Given the description of an element on the screen output the (x, y) to click on. 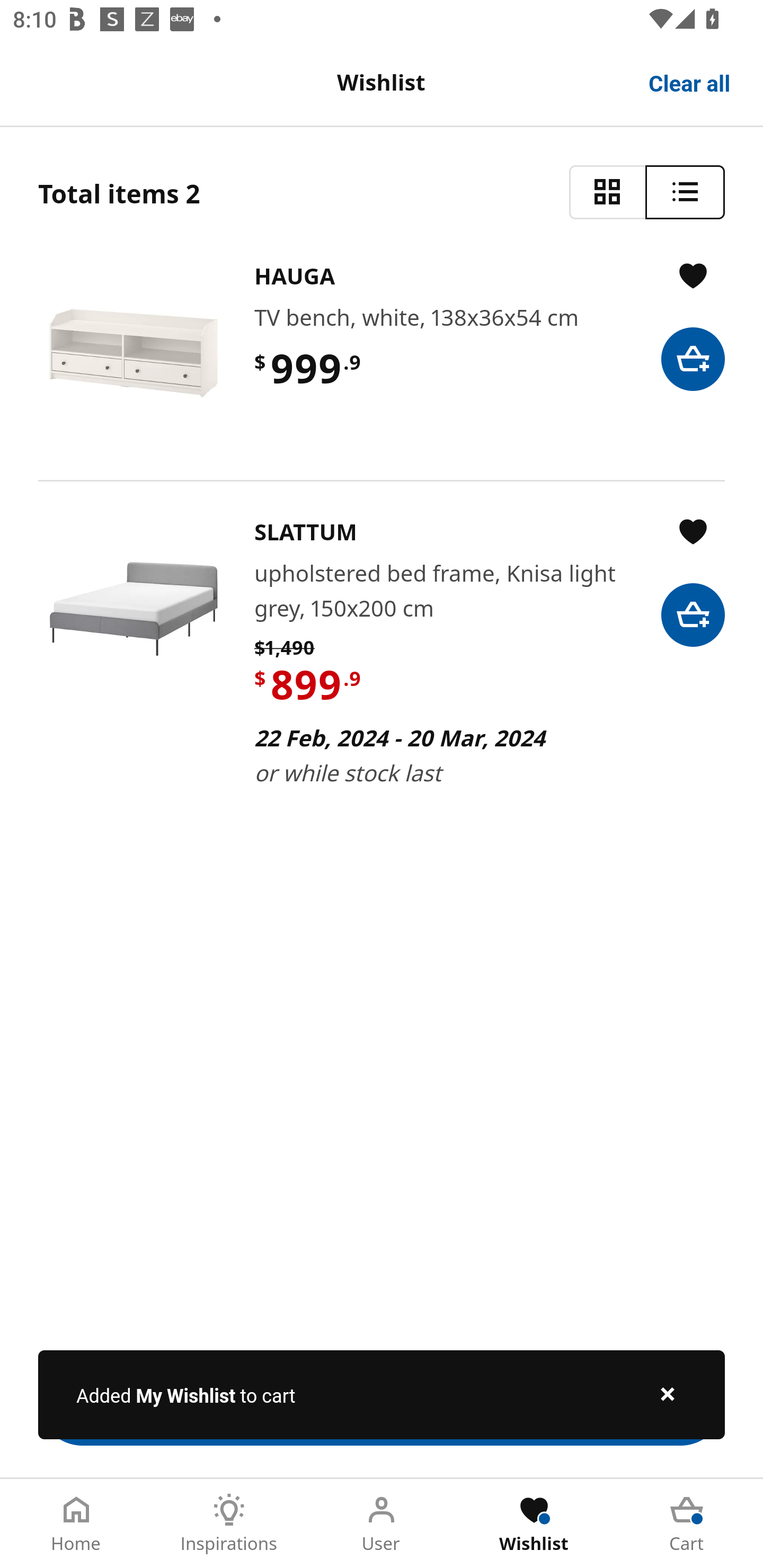
Clear all (689, 81)
​H​A​U​G​A​
TV bench, white, 138x36x54 cm
$
999
.9 (381, 352)
Added My Wishlist to cart (381, 1394)
Home
Tab 1 of 5 (76, 1522)
Inspirations
Tab 2 of 5 (228, 1522)
User
Tab 3 of 5 (381, 1522)
Wishlist
Tab 4 of 5 (533, 1522)
Cart
Tab 5 of 5 (686, 1522)
